Given the description of an element on the screen output the (x, y) to click on. 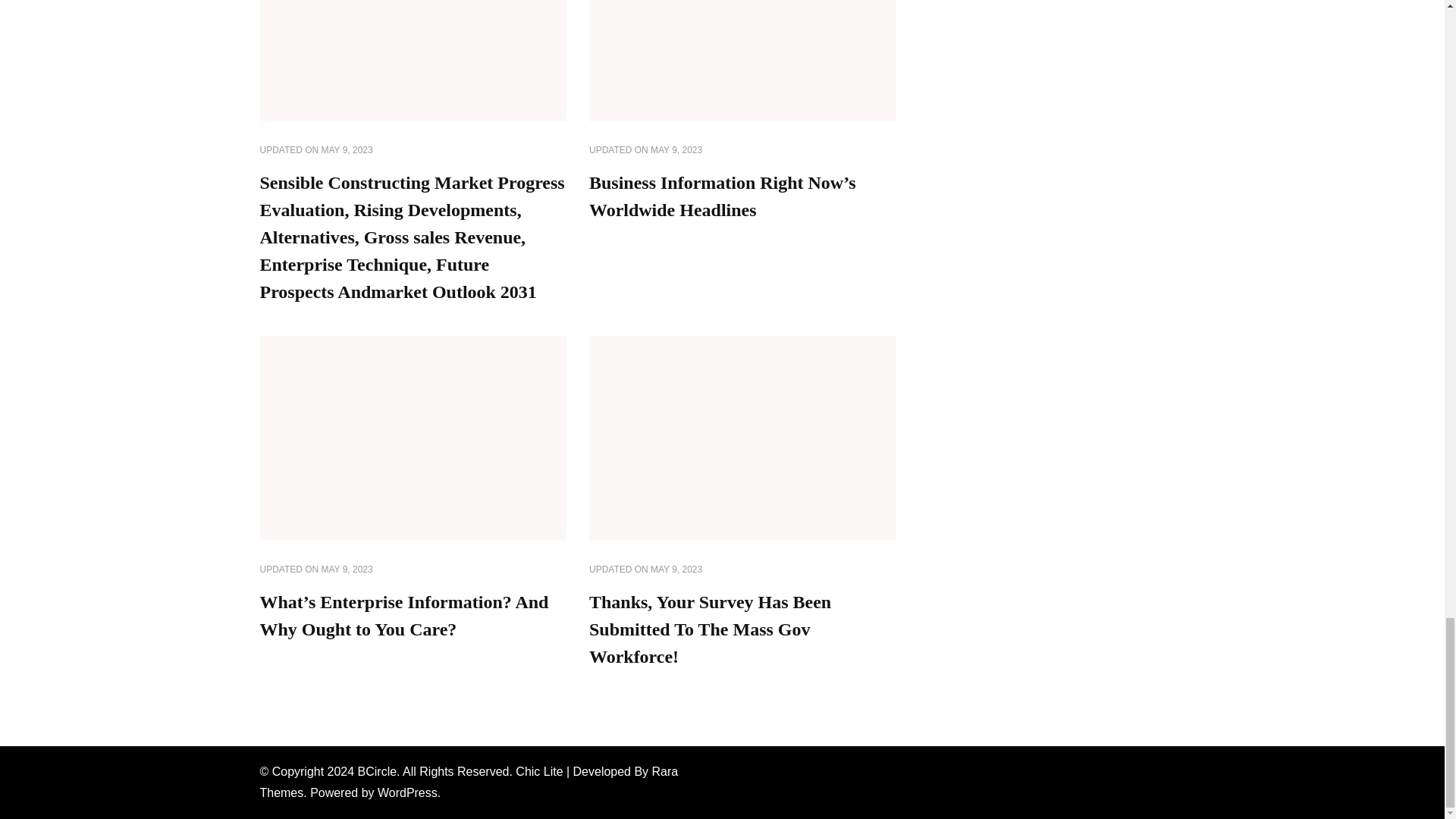
MAY 9, 2023 (346, 151)
MAY 9, 2023 (675, 151)
MAY 9, 2023 (346, 570)
MAY 9, 2023 (675, 570)
